Given the description of an element on the screen output the (x, y) to click on. 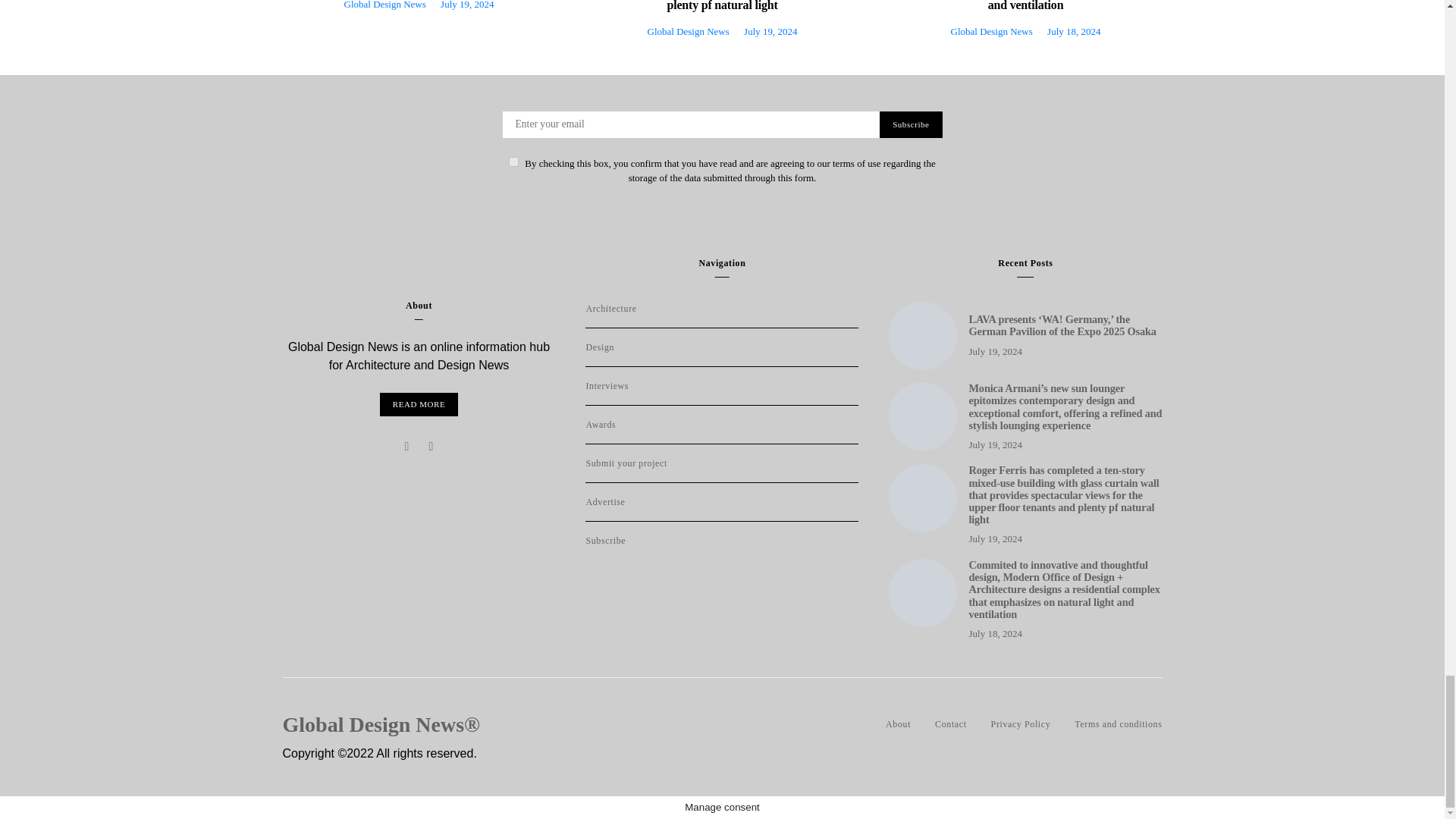
on (513, 162)
View all posts by Global Design News (384, 4)
View all posts by Global Design News (991, 30)
View all posts by Global Design News (688, 30)
